Given the description of an element on the screen output the (x, y) to click on. 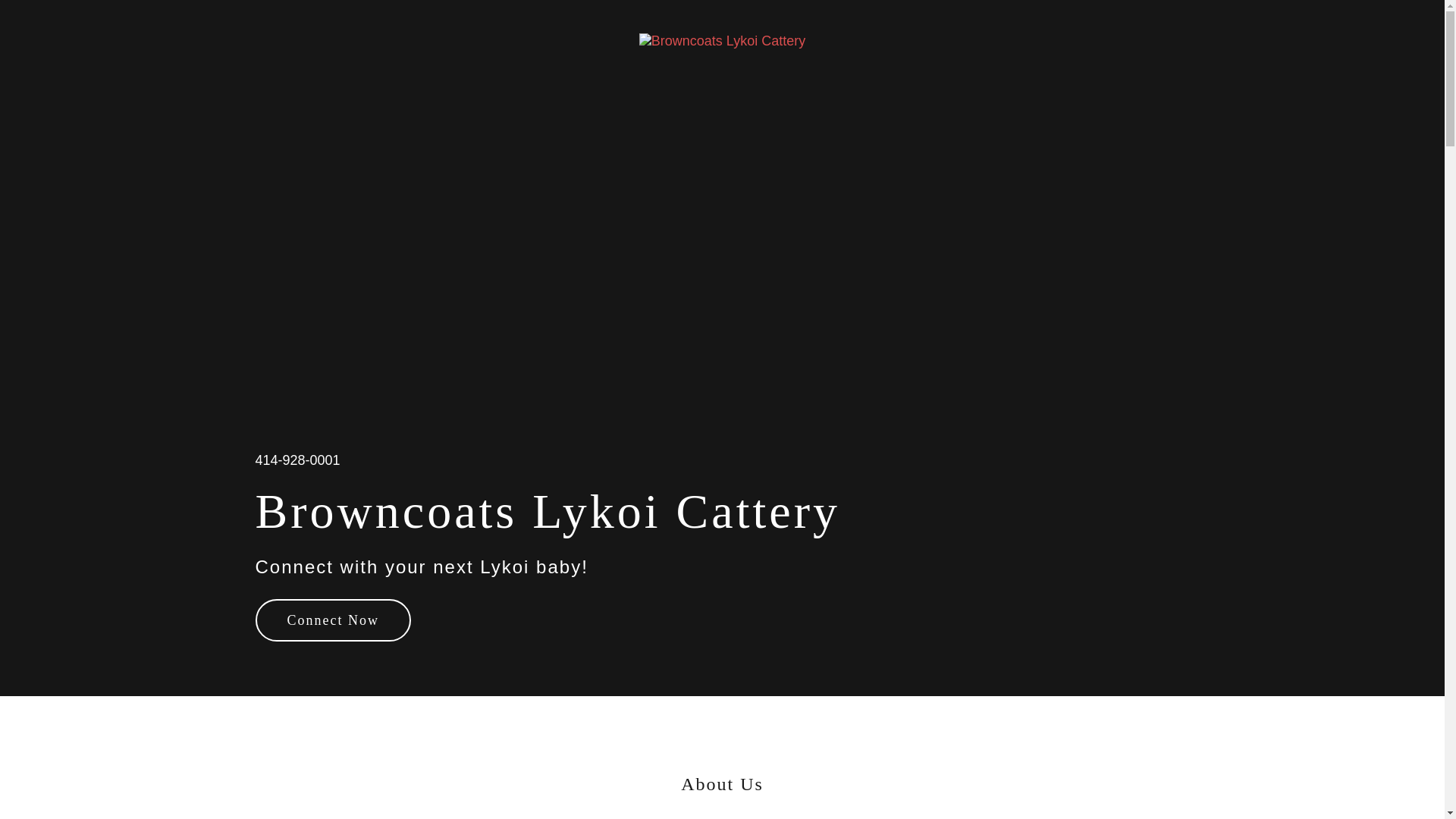
Browncoats Lykoi Cattery (722, 38)
414-928-0001 (296, 459)
Connect Now (332, 619)
